Given the description of an element on the screen output the (x, y) to click on. 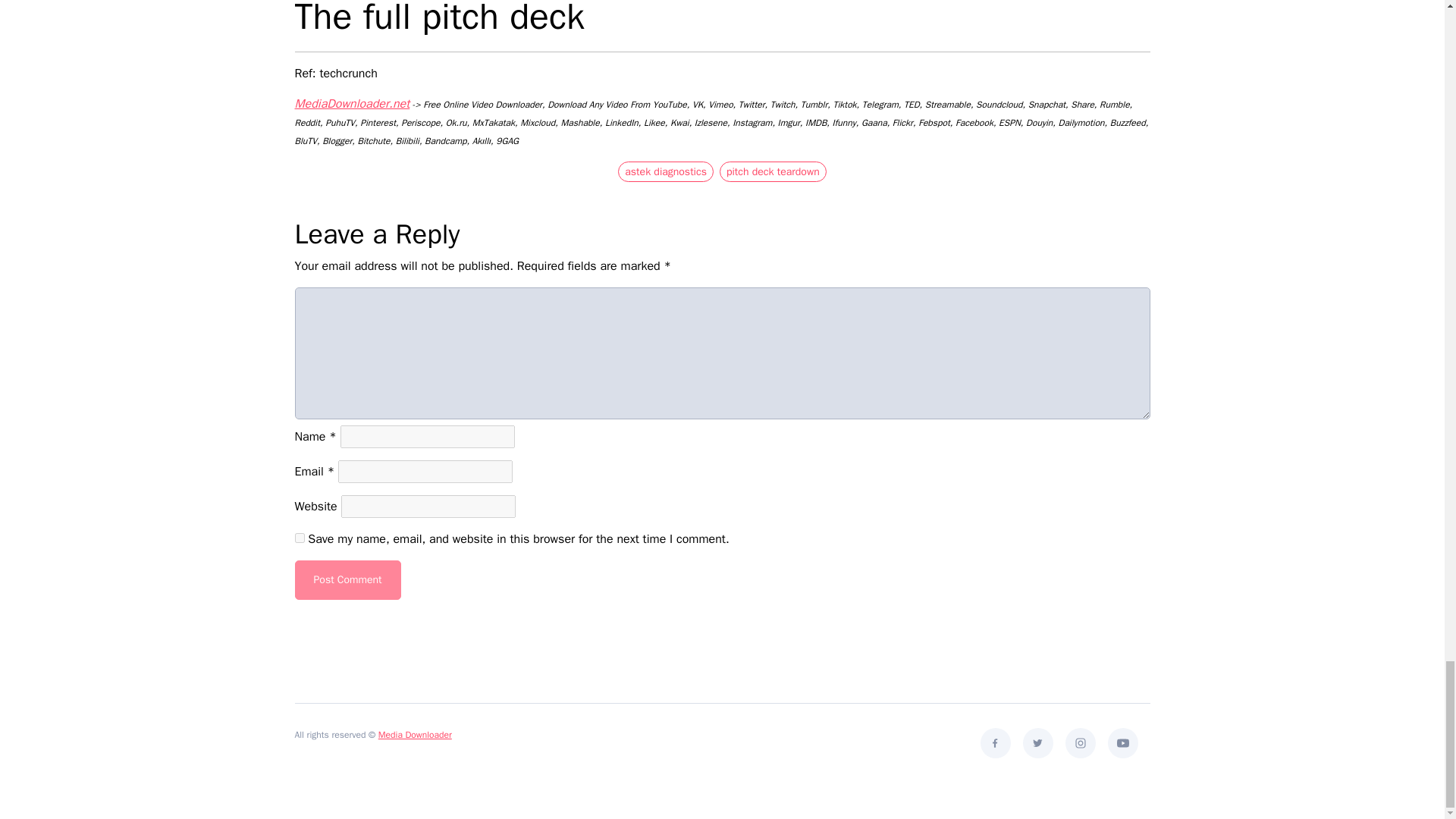
Post Comment (347, 579)
yes (299, 537)
MediaDownloader.net (351, 103)
astek diagnostics (665, 171)
pitch deck teardown (773, 171)
Media Downloader (414, 734)
Post Comment (347, 579)
